Given the description of an element on the screen output the (x, y) to click on. 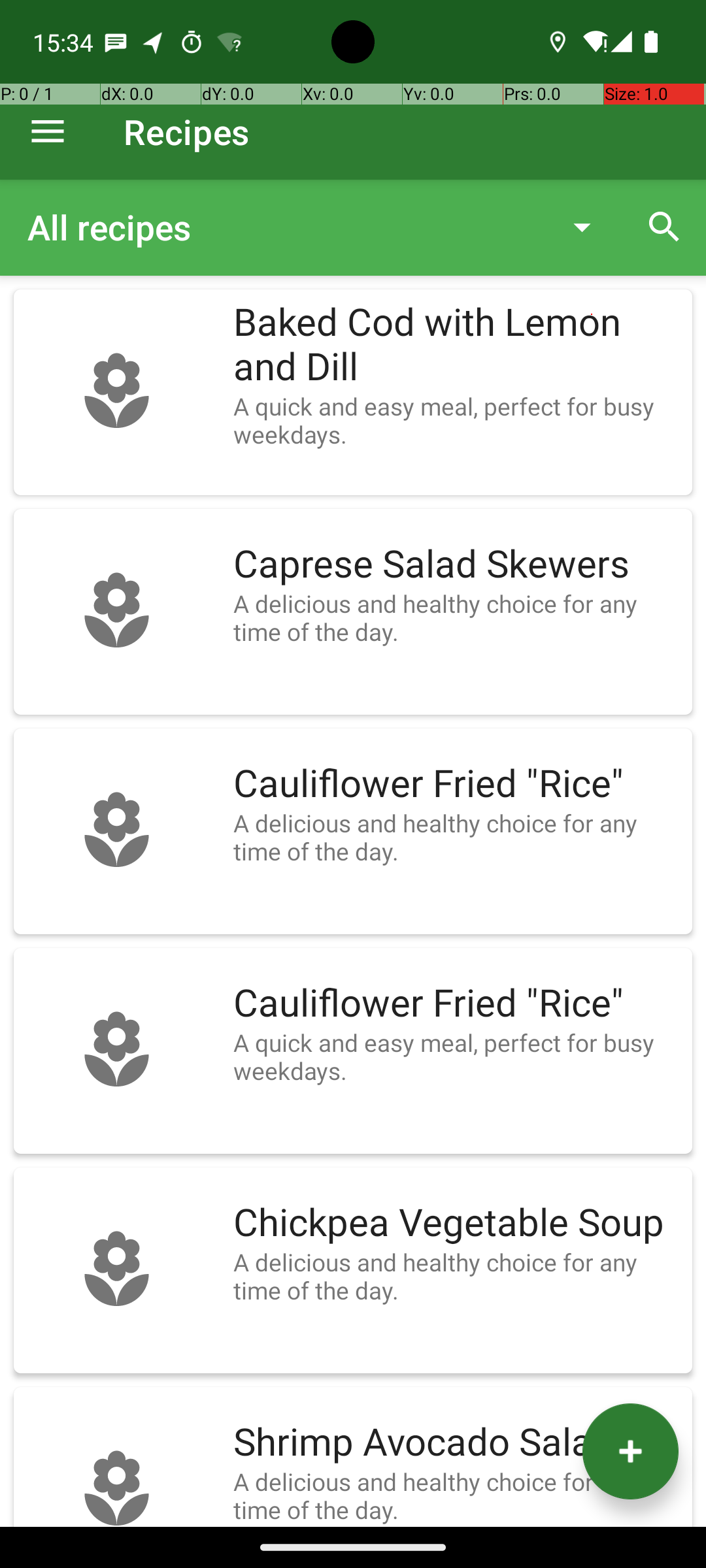
Shrimp Avocado Salad Element type: android.widget.TextView (455, 1442)
